Given the description of an element on the screen output the (x, y) to click on. 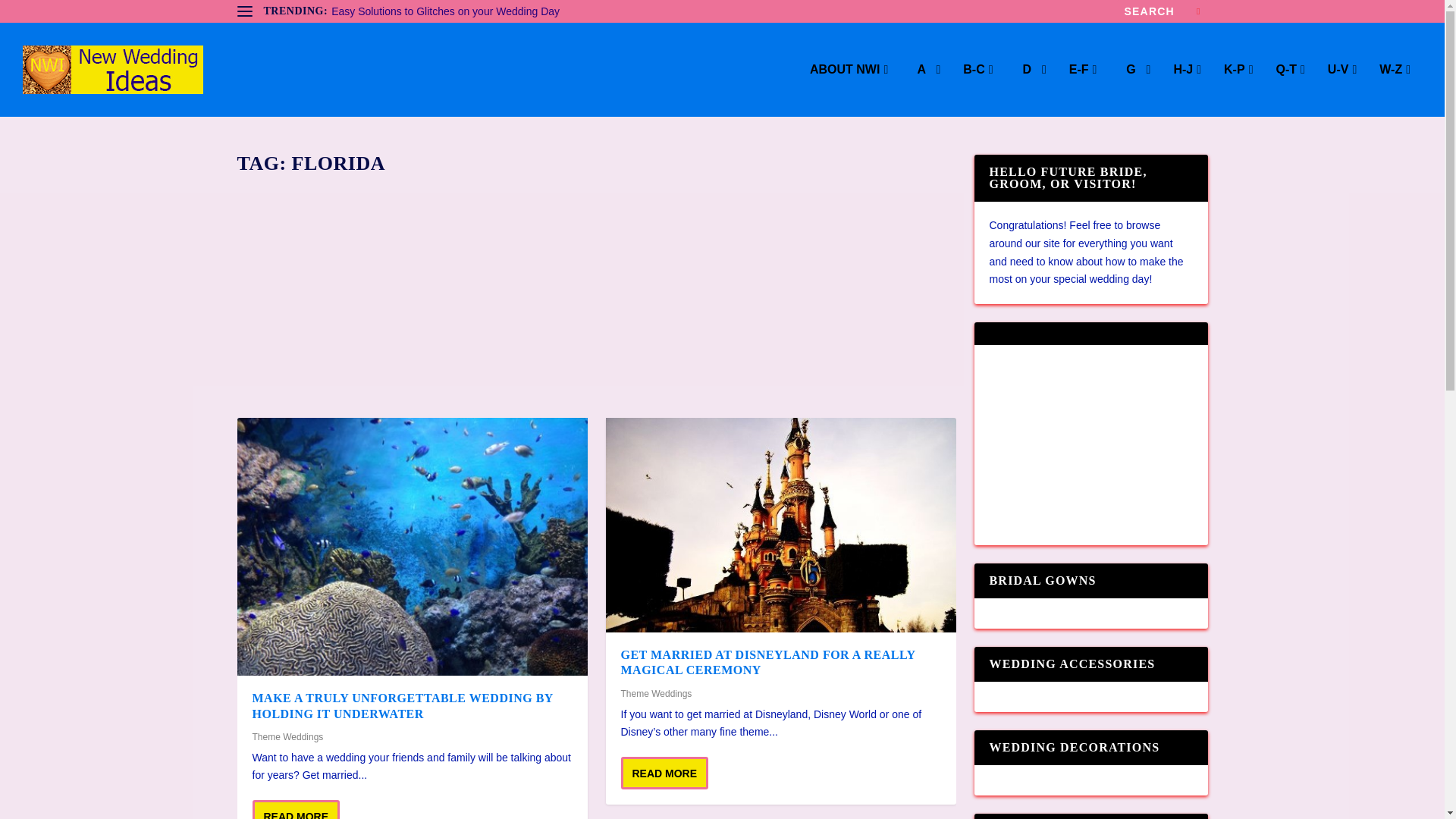
Advertisement (1090, 444)
Make A Truly Unforgettable Wedding By Holding It Underwater (410, 546)
ABOUT NWI (848, 90)
Get Married at Disneyland for a Really Magical Ceremony (780, 524)
Easy Solutions to Glitches on your Wedding Day (445, 10)
Search for: (1161, 11)
